Given the description of an element on the screen output the (x, y) to click on. 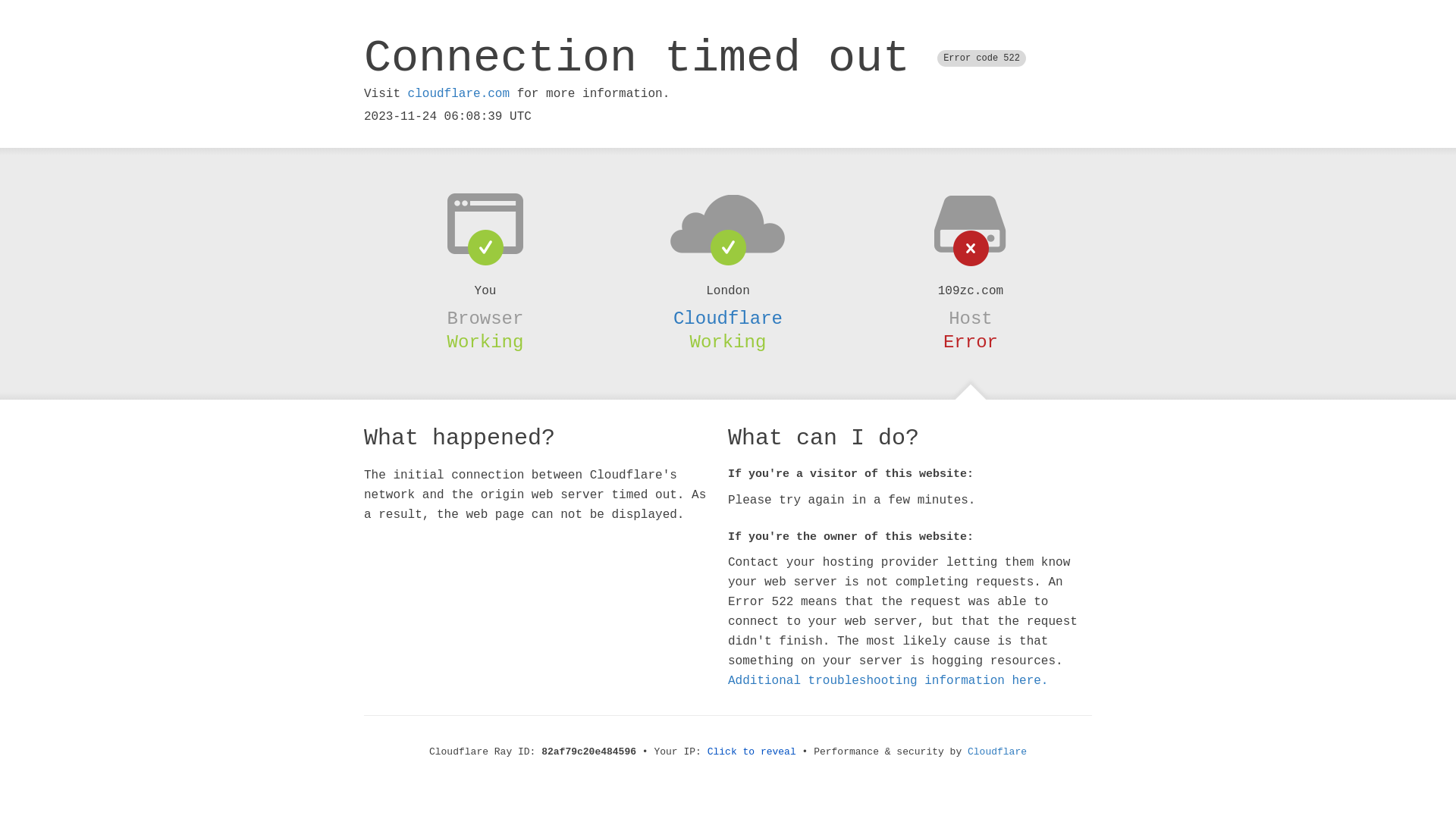
Additional troubleshooting information here. Element type: text (888, 680)
Cloudflare Element type: text (727, 318)
Cloudflare Element type: text (996, 751)
Click to reveal Element type: text (751, 751)
cloudflare.com Element type: text (458, 93)
